Given the description of an element on the screen output the (x, y) to click on. 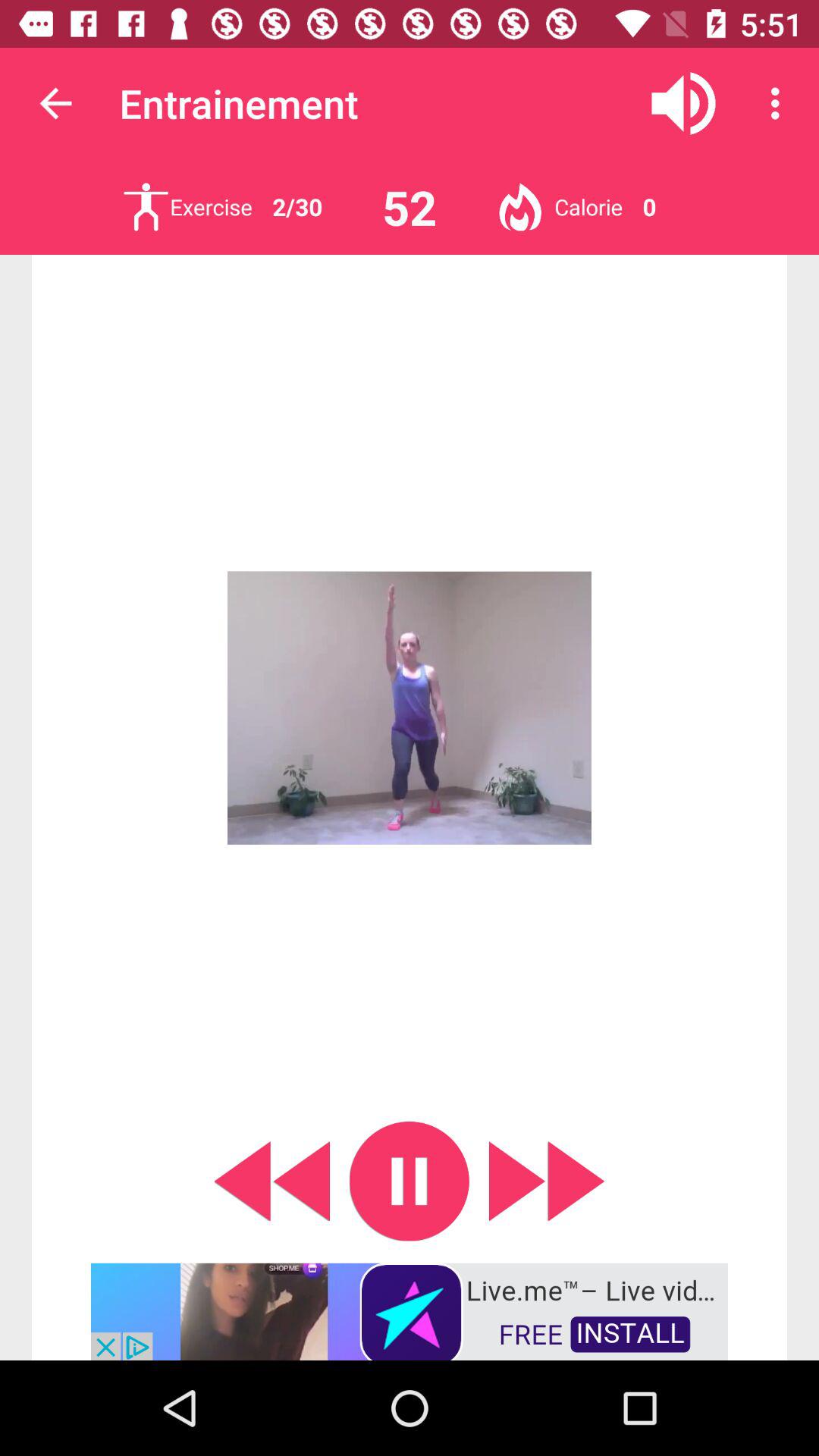
change the volume (683, 103)
